Given the description of an element on the screen output the (x, y) to click on. 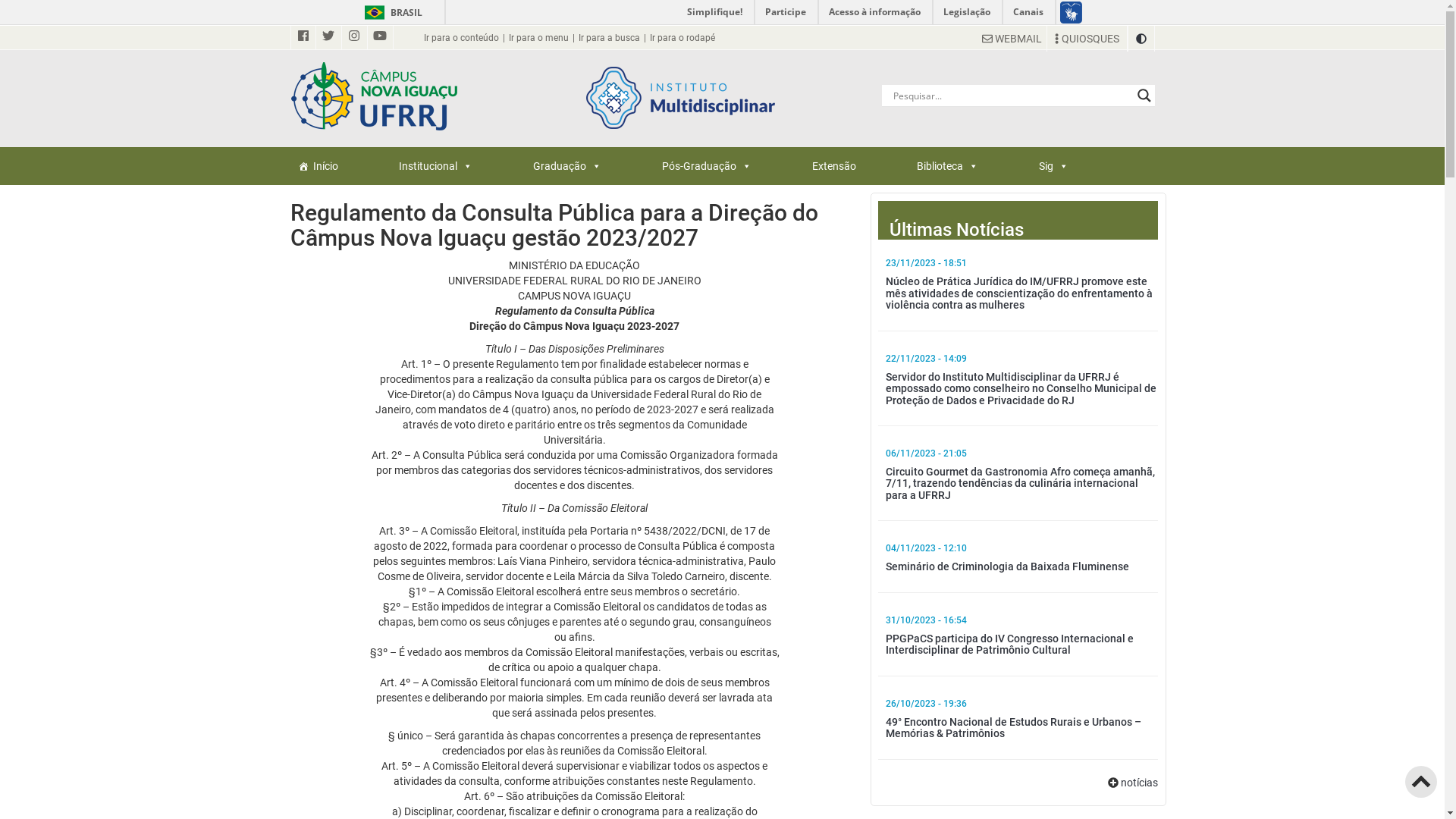
Biblioteca Element type: text (946, 166)
Sig Element type: text (1053, 166)
WEBMAIL Element type: text (1011, 37)
Ir para o menu Element type: text (537, 37)
Institucional Element type: text (435, 166)
Ir para a busca Element type: text (608, 37)
BRASIL Element type: text (373, 12)
QUIOSQUES Element type: text (1086, 38)
